Given the description of an element on the screen output the (x, y) to click on. 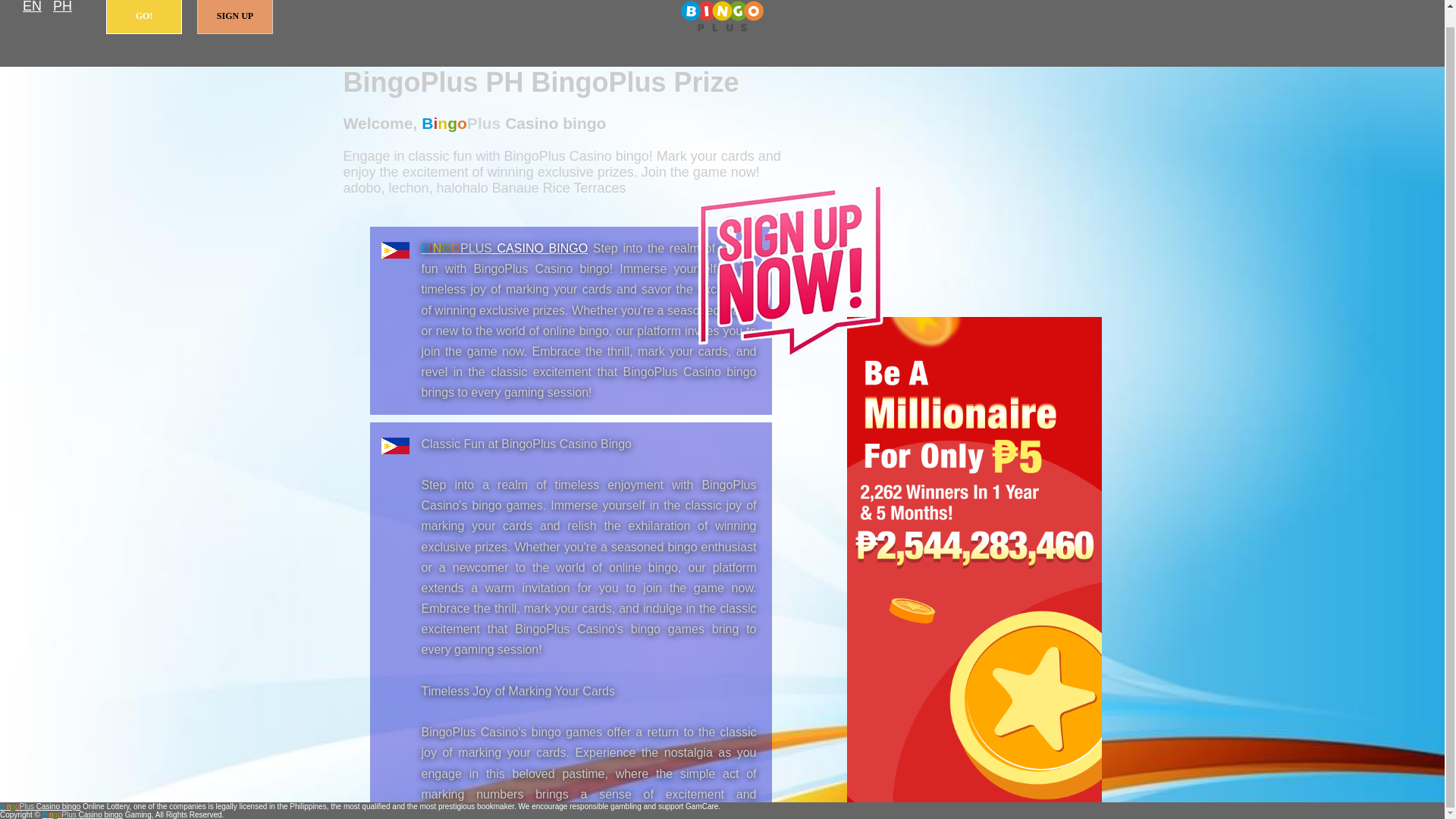
PH (61, 7)
SIGN UP (234, 17)
English - Filipino (32, 7)
BingoPlus Casino bingo (40, 806)
BINGOPLUS CASINO BINGO (505, 247)
EN (32, 7)
BingoPlus Casino bingo (721, 16)
GO! (144, 17)
Pilipinas - Filipino (61, 7)
BingoPlus Casino bingo (505, 247)
